Given the description of an element on the screen output the (x, y) to click on. 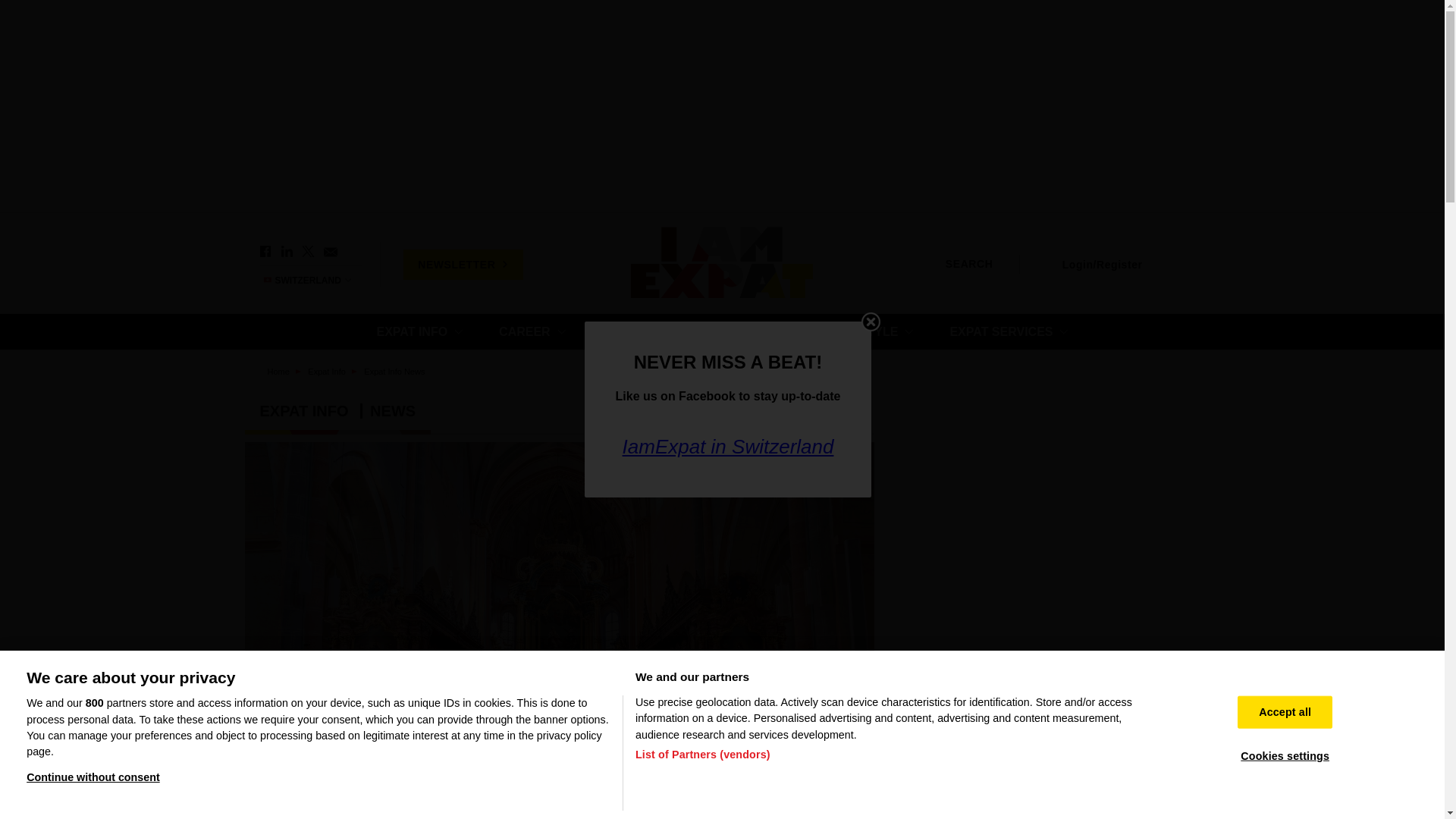
3rd party ad content (1047, 535)
Twitter (307, 251)
EXPAT INFO (419, 331)
Home (721, 263)
Facebook (265, 251)
NEWSLETTER (462, 263)
Switzerland drops further down ranking of expat destinations (1043, 732)
Newsletter (329, 251)
Two Swiss cities named among the 10 happiest in the world (1043, 800)
NEWSLETTER (462, 263)
SWITZERLAND (313, 280)
Linkedin (287, 251)
